Given the description of an element on the screen output the (x, y) to click on. 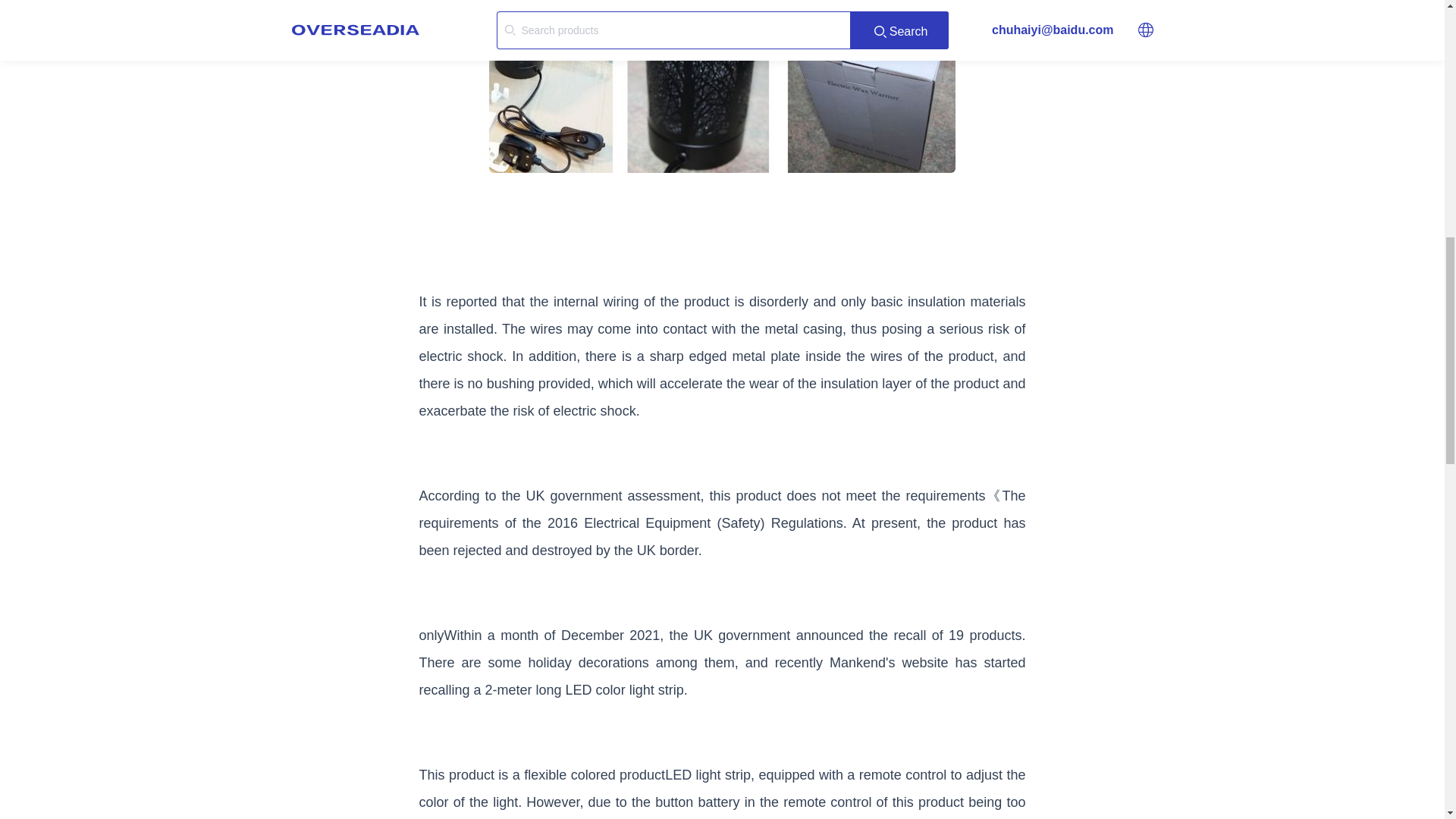
1641264856226516.jpg (722, 86)
